Given the description of an element on the screen output the (x, y) to click on. 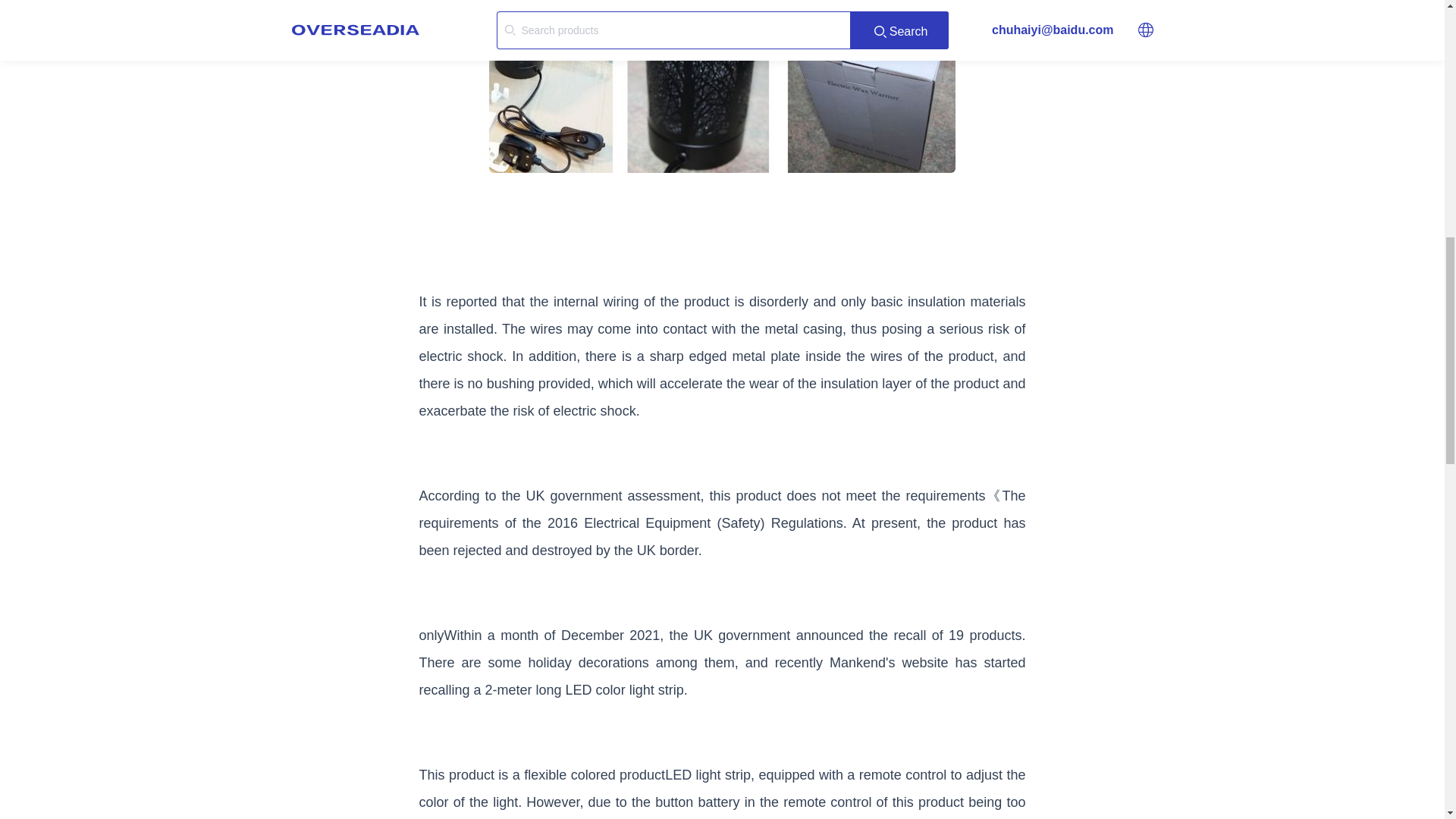
1641264856226516.jpg (722, 86)
